Given the description of an element on the screen output the (x, y) to click on. 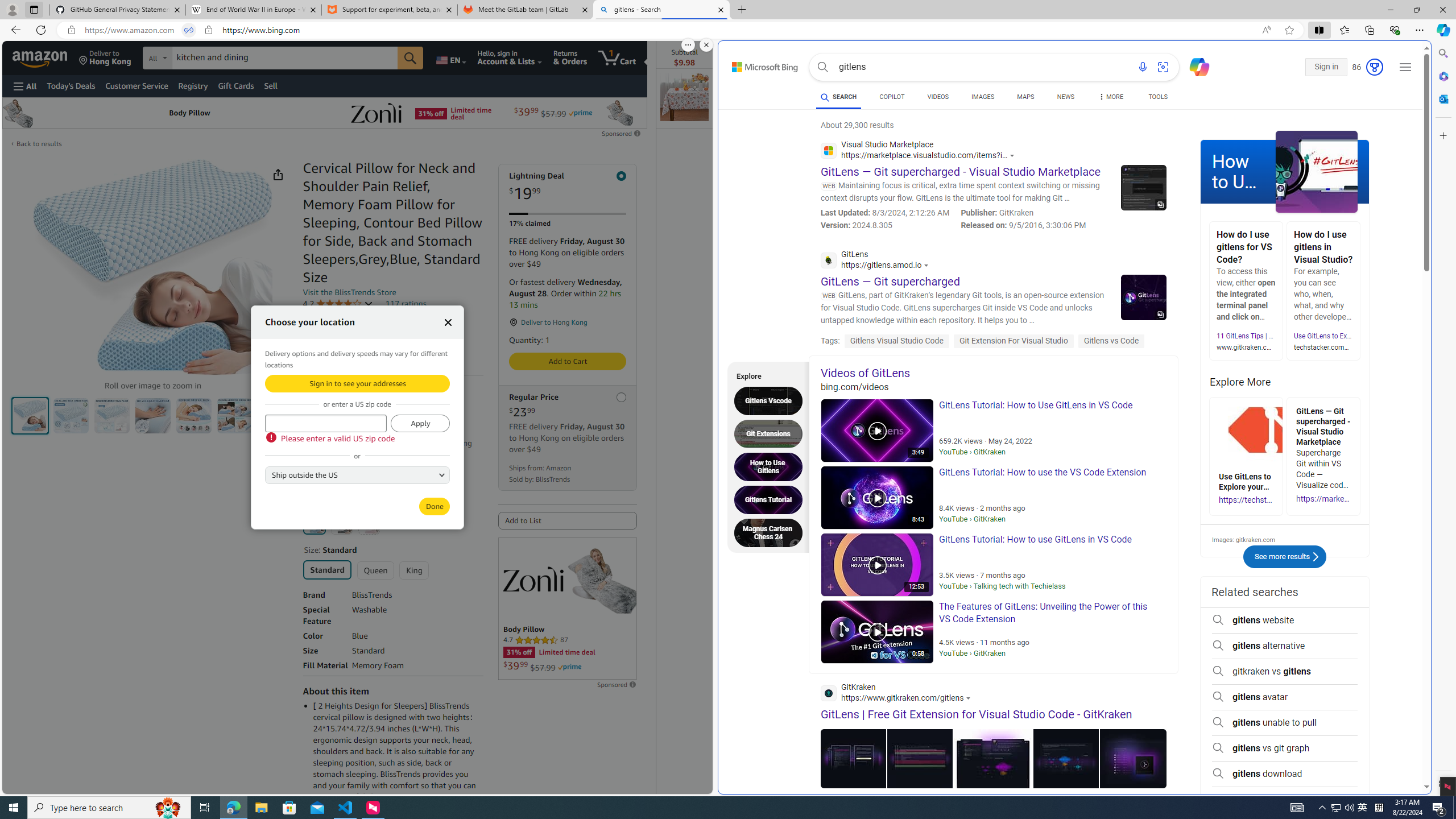
NEWS (1065, 96)
Logo (533, 578)
Sustainability features (308, 350)
End of World War II in Europe - Wikipedia (253, 9)
or enter a US zip code (325, 423)
View details (1132, 757)
How to Use Gitlens (771, 466)
Skip to main content (48, 56)
Hello, sign in Account & Lists (509, 57)
Blue (314, 522)
